Given the description of an element on the screen output the (x, y) to click on. 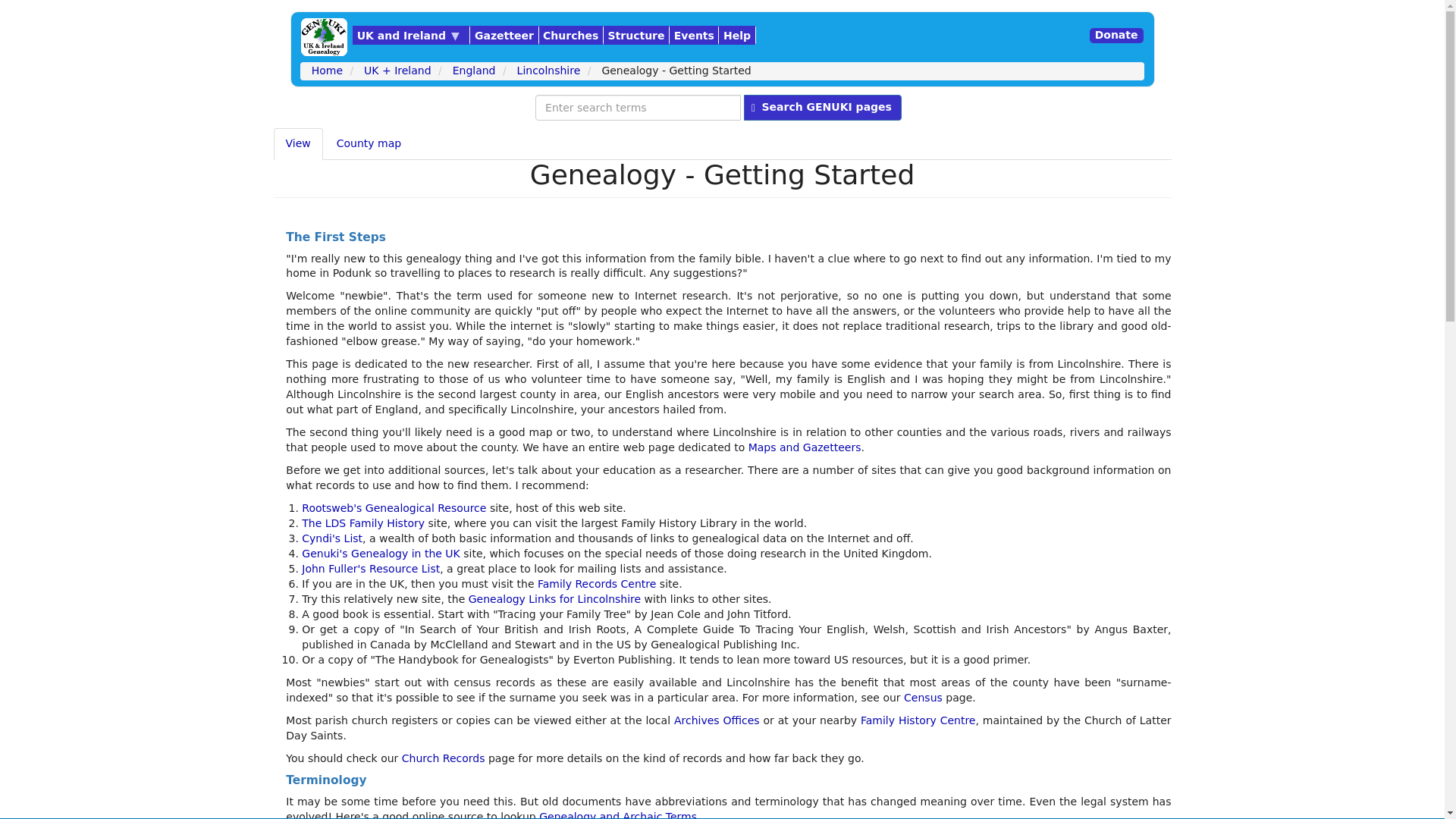
Home (324, 37)
United Kingdom and Ireland (410, 35)
